Given the description of an element on the screen output the (x, y) to click on. 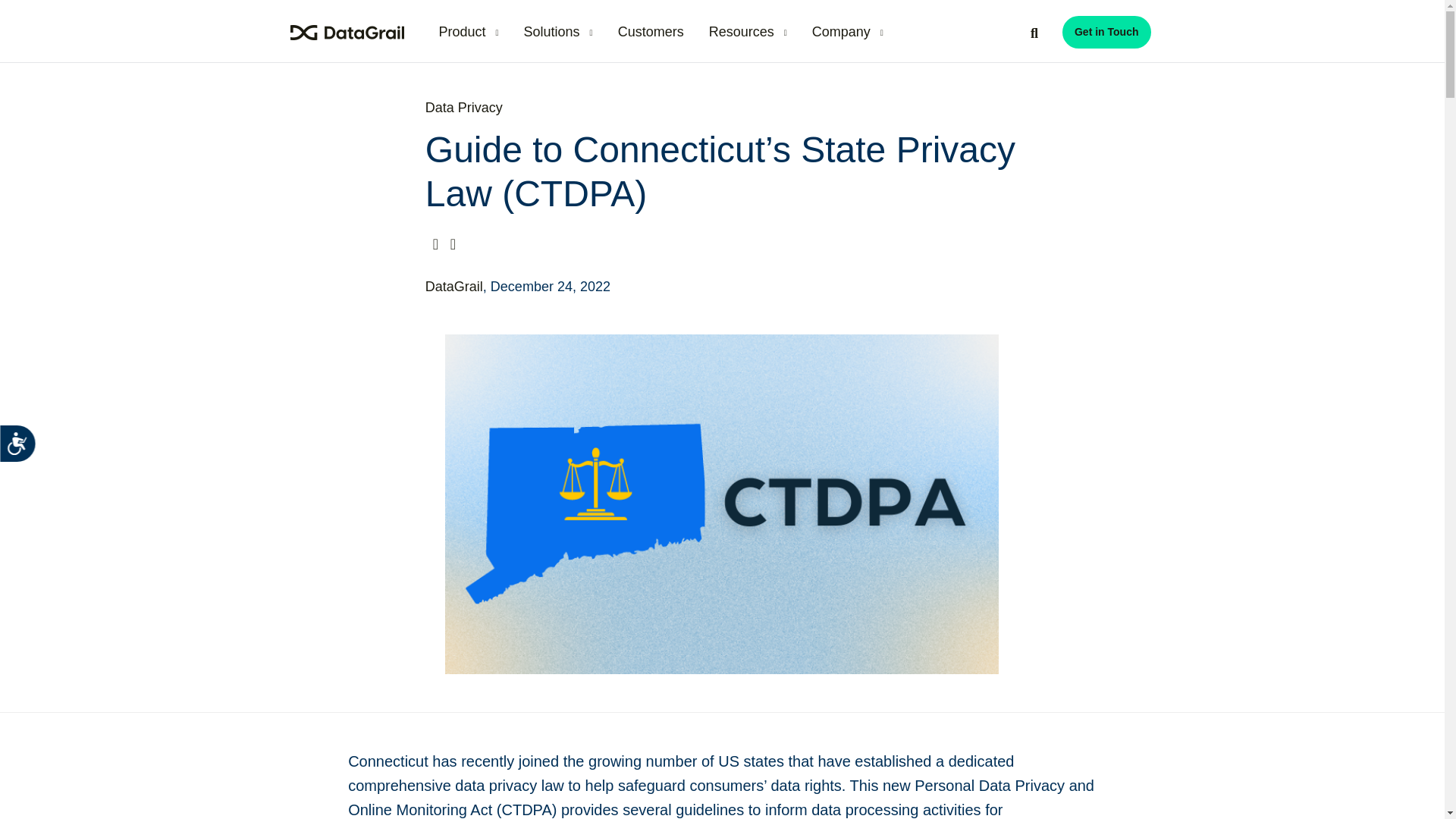
Accessibility (31, 457)
Customers (650, 31)
Get in Touch (1106, 31)
Company (847, 31)
Solutions (558, 31)
Product (467, 31)
Resources (748, 31)
